Given the description of an element on the screen output the (x, y) to click on. 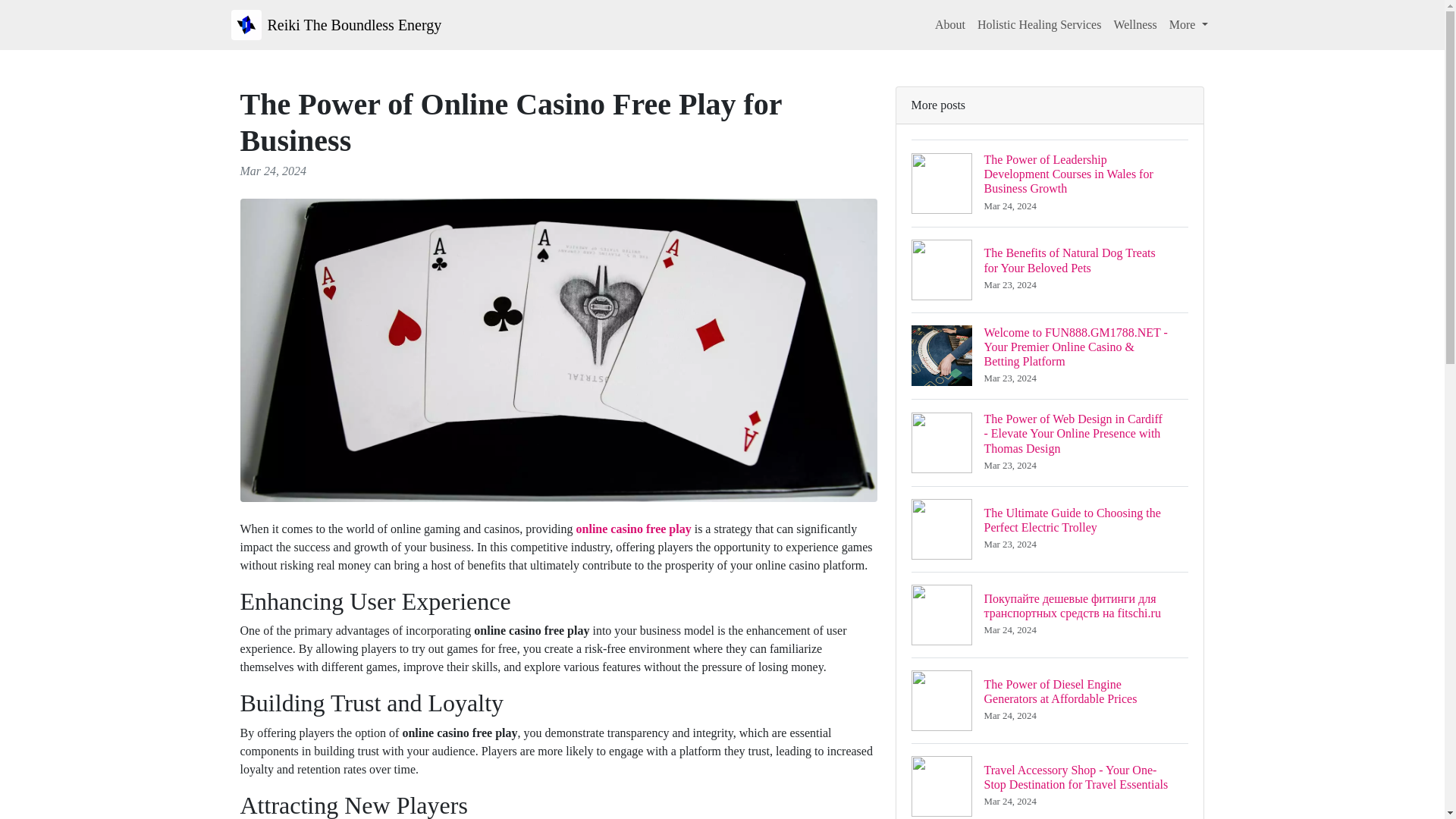
About (949, 24)
Reiki The Boundless Energy (335, 24)
online casino free play (633, 528)
Holistic Healing Services (1039, 24)
